Given the description of an element on the screen output the (x, y) to click on. 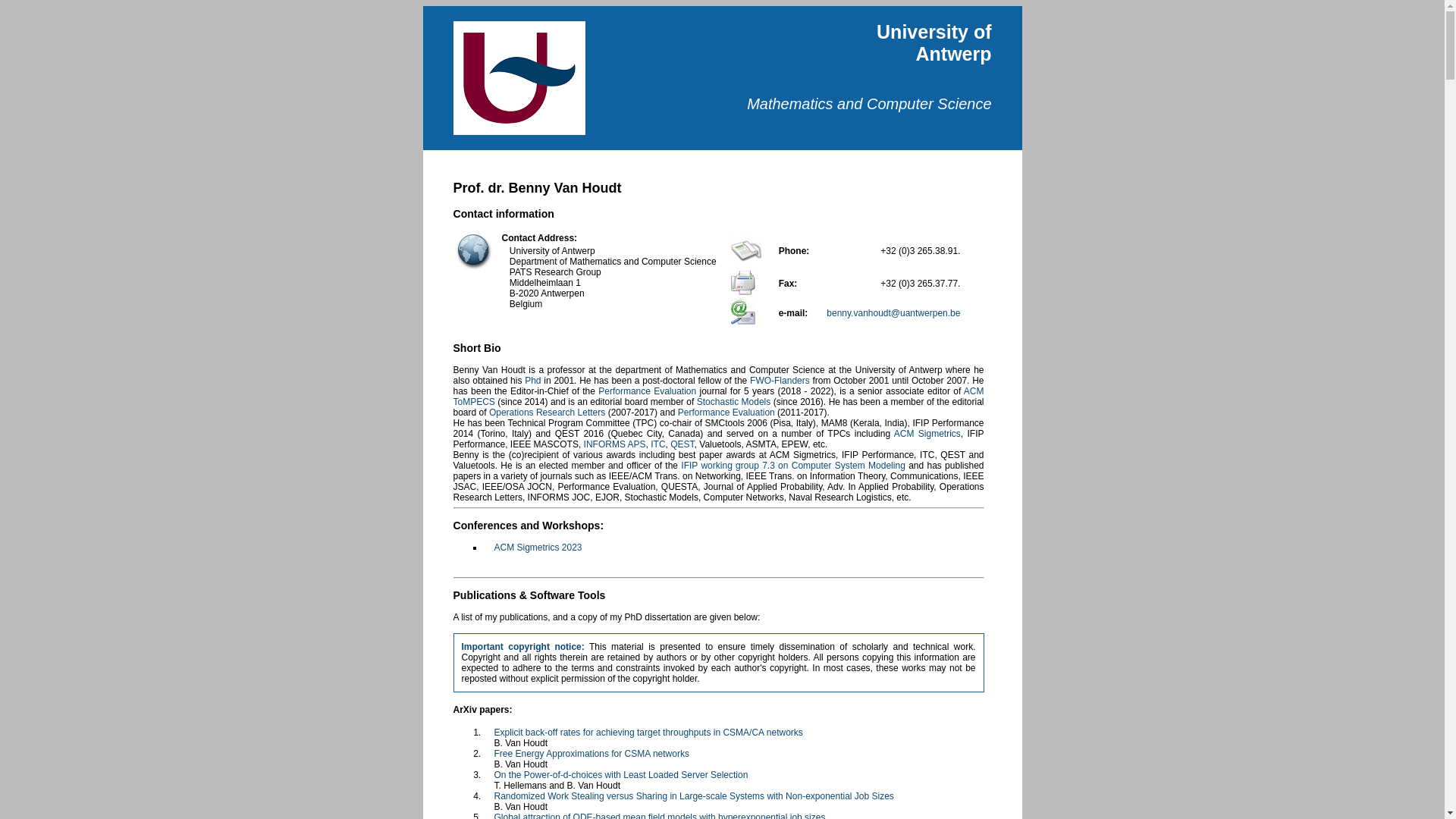
Stochastic Models Element type: text (733, 401)
Operations Research Letters Element type: text (547, 412)
benny.vanhoudt@uantwerpen.be Element type: text (893, 312)
Free Energy Approximations for CSMA networks Element type: text (591, 753)
On the Power-of-d-choices with Least Loaded Server Selection Element type: text (621, 774)
QEST Element type: text (681, 444)
ACM ToMPECS Element type: text (718, 396)
Phd Element type: text (532, 380)
IFIP working group 7.3 on Computer System Modeling Element type: text (792, 465)
INFORMS APS Element type: text (614, 444)
ITC Element type: text (657, 444)
Performance Evaluation Element type: text (647, 390)
ACM Sigmetrics 2023 Element type: text (538, 547)
FWO-Flanders Element type: text (779, 380)
ACM Sigmetrics Element type: text (927, 433)
Performance Evaluation Element type: text (726, 412)
